Given the description of an element on the screen output the (x, y) to click on. 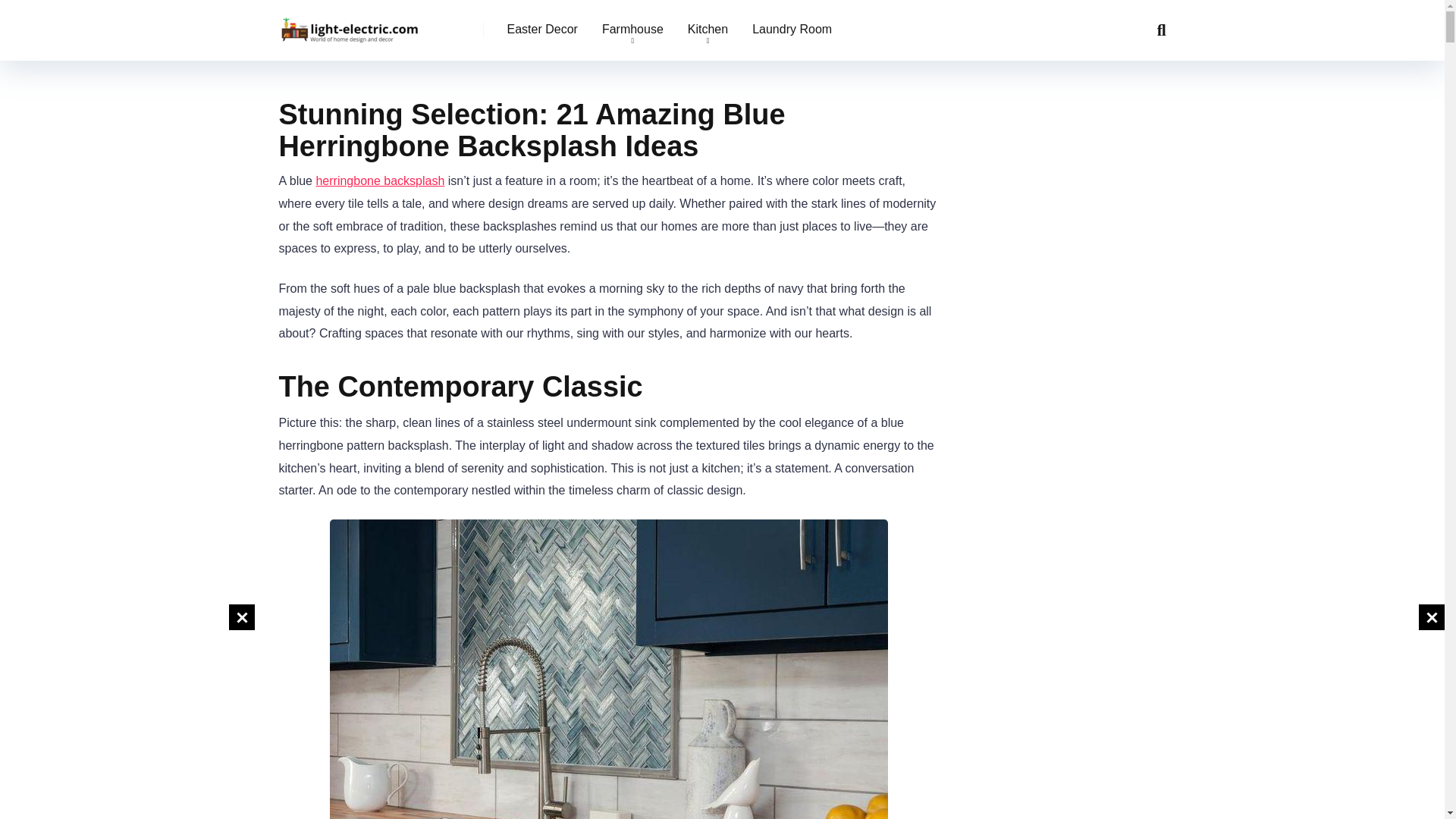
Farmhouse (632, 30)
Home Design (349, 24)
Easter Decor (542, 30)
Kitchen (707, 30)
Advertisement (127, 710)
herringbone backsplash (379, 180)
Laundry Room (791, 30)
